Given the description of an element on the screen output the (x, y) to click on. 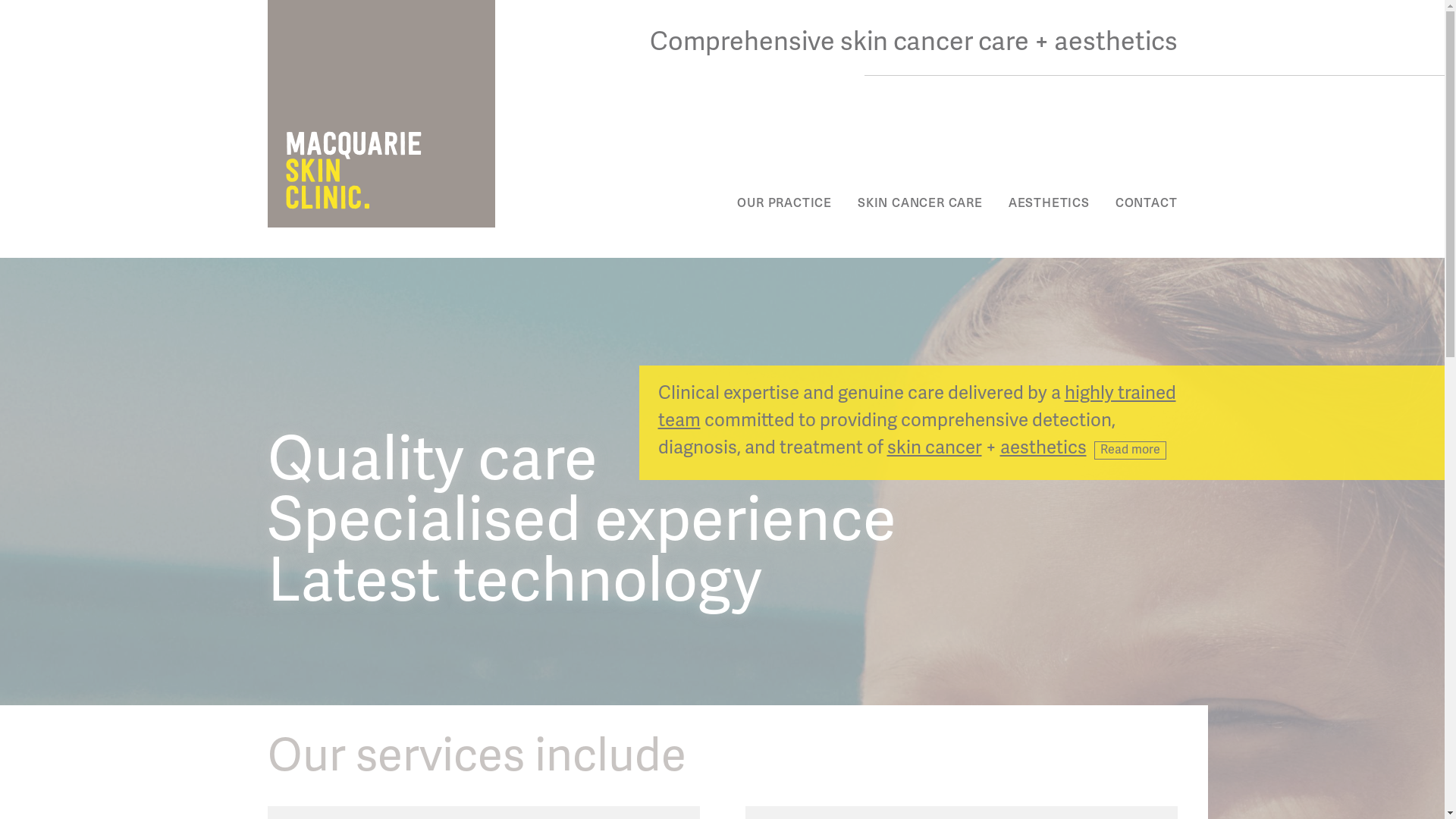
OUR PRACTICE Element type: text (784, 201)
AESTHETICS Element type: text (1049, 201)
skin cancer Element type: text (934, 446)
CONTACT Element type: text (1146, 201)
highly trained team Element type: text (917, 405)
aesthetics Element type: text (1042, 446)
Read more Element type: text (1129, 450)
SKIN CANCER CARE Element type: text (920, 201)
